Given the description of an element on the screen output the (x, y) to click on. 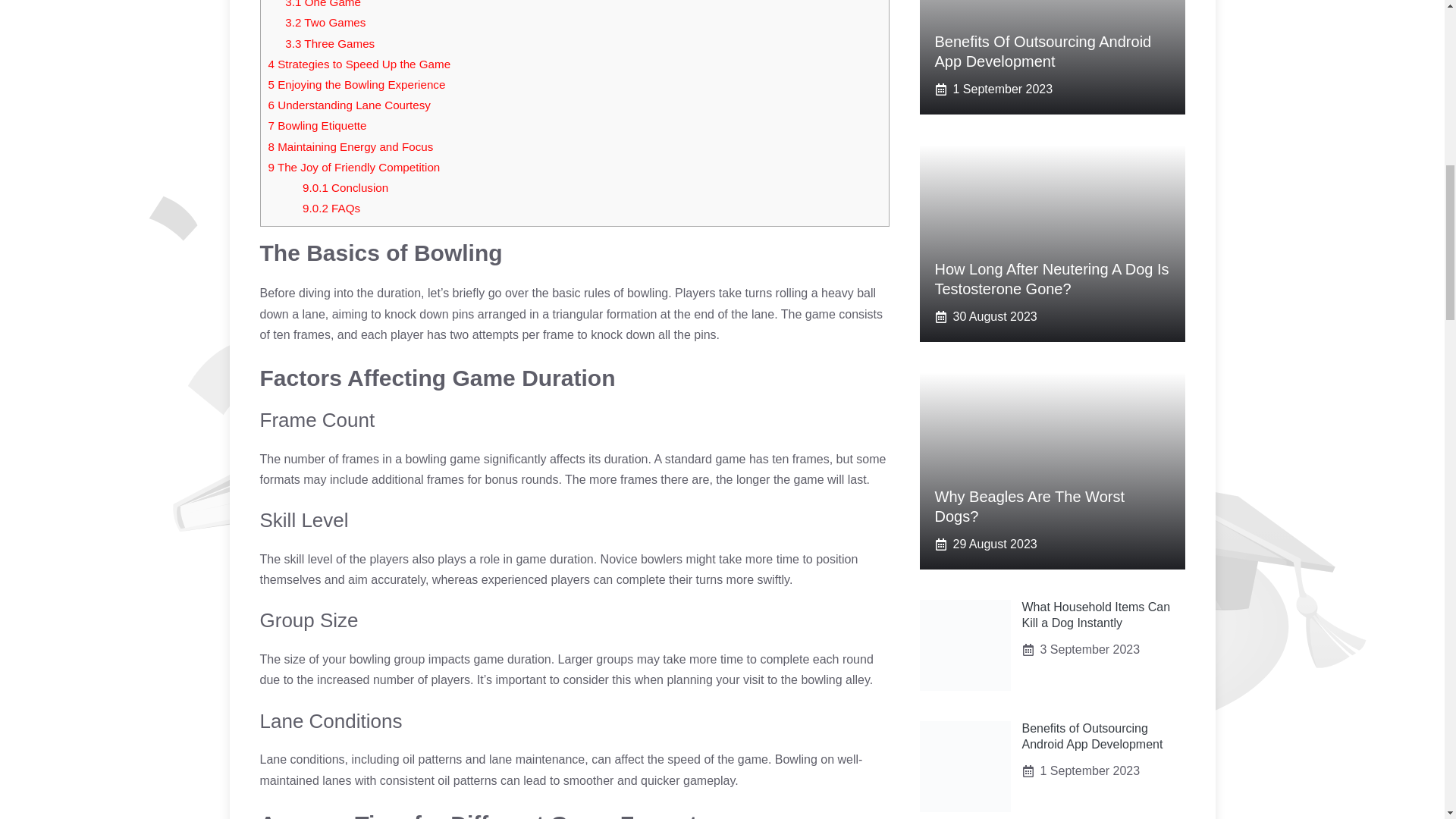
3.3 Three Games (329, 42)
7 Bowling Etiquette (316, 124)
3.1 One Game (323, 4)
9.0.1 Conclusion (345, 187)
3.2 Two Games (325, 21)
9 The Joy of Friendly Competition (354, 166)
8 Maintaining Energy and Focus (350, 145)
9.0.2 FAQs (330, 207)
Scroll back to top (1406, 720)
6 Understanding Lane Courtesy (348, 104)
5 Enjoying the Bowling Experience (356, 83)
4 Strategies to Speed Up the Game (359, 63)
